Given the description of an element on the screen output the (x, y) to click on. 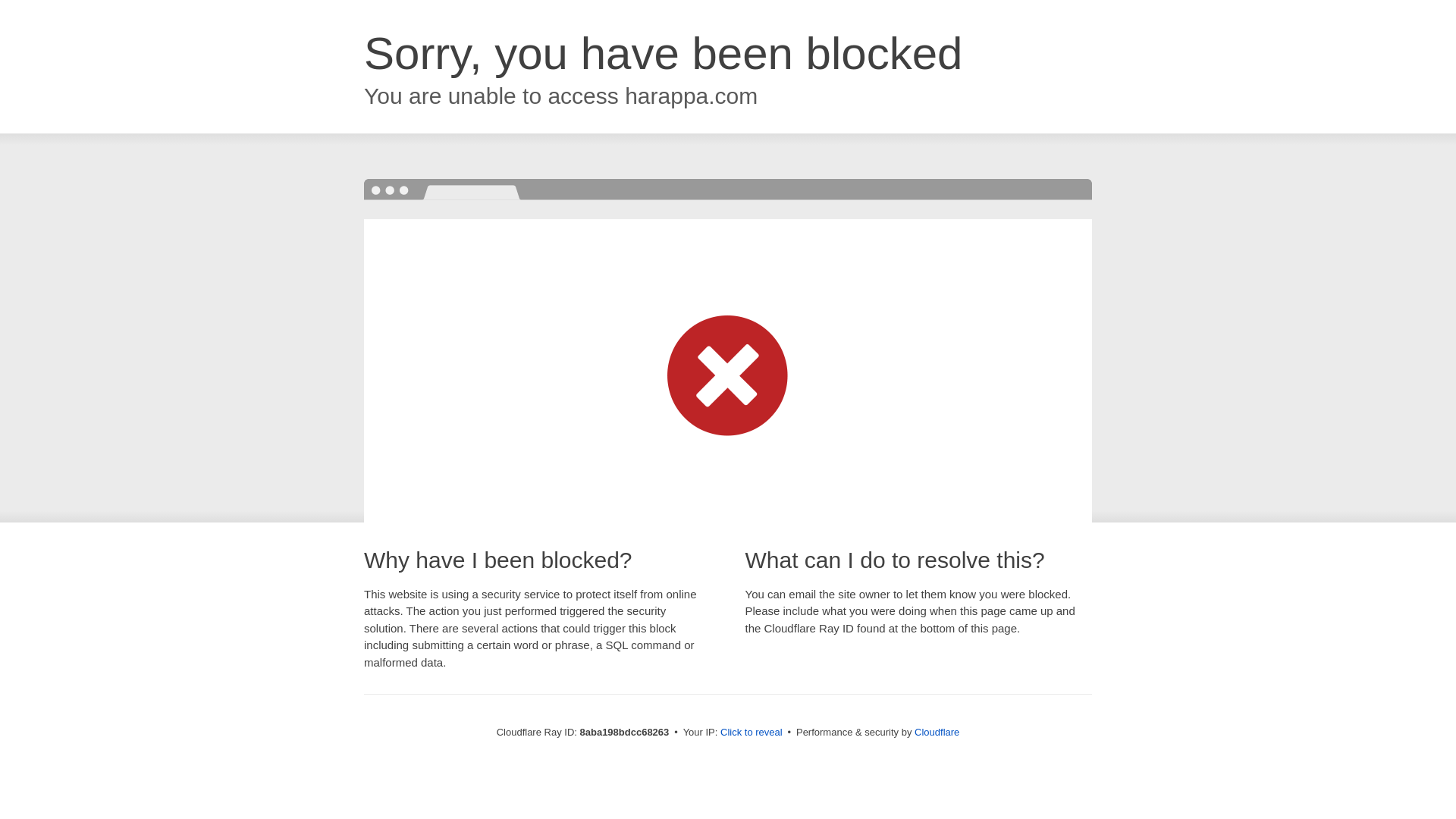
Cloudflare (936, 731)
Click to reveal (751, 732)
